Given the description of an element on the screen output the (x, y) to click on. 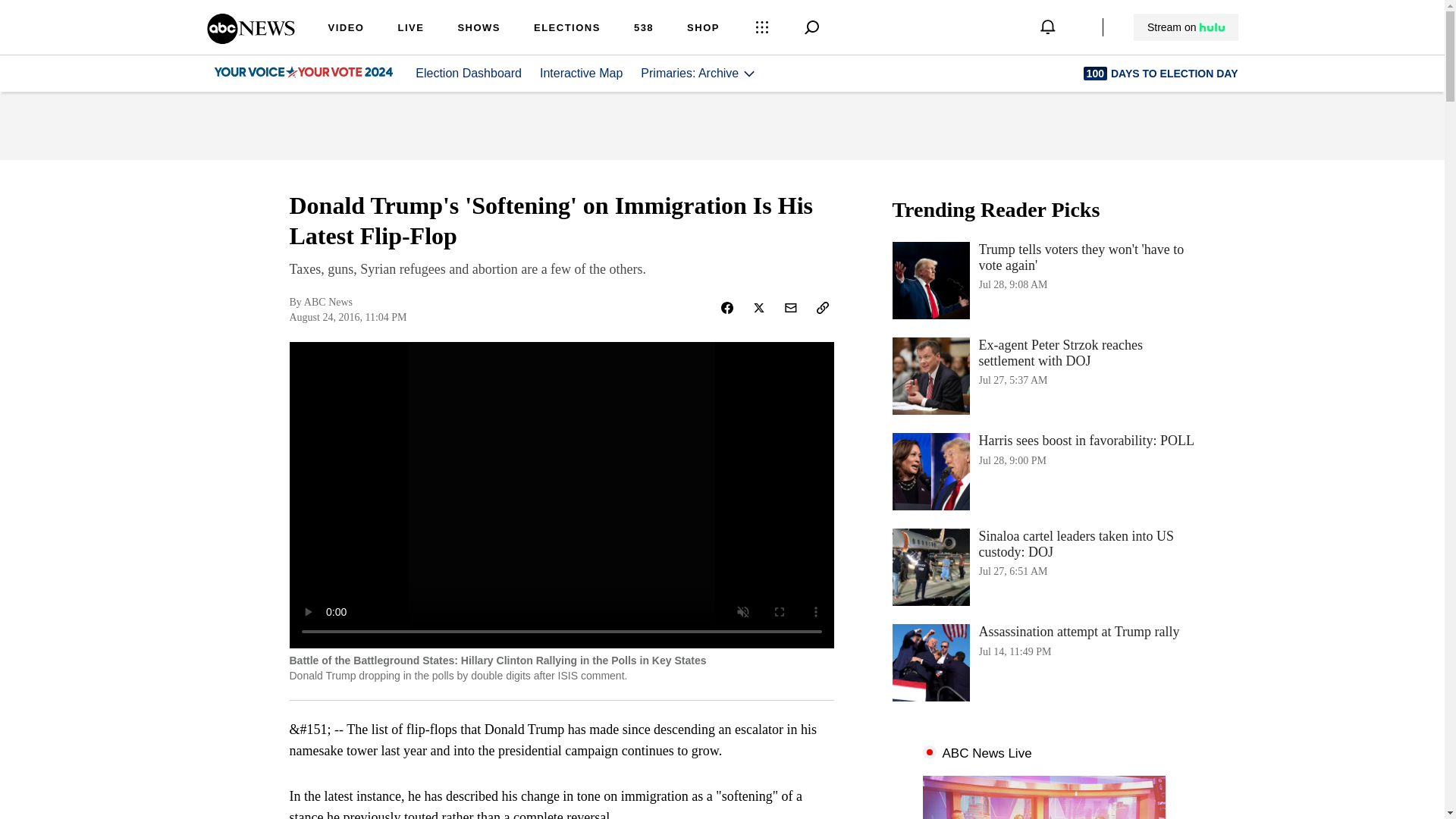
ELECTIONS (566, 28)
VIDEO (345, 28)
Election Dashboard (467, 73)
Stream on (1185, 27)
SHOP (703, 28)
Interactive Map (581, 73)
538 (1043, 471)
ABC News (643, 28)
LIVE (250, 38)
Primaries: Archive (410, 28)
SHOWS (698, 73)
